Given the description of an element on the screen output the (x, y) to click on. 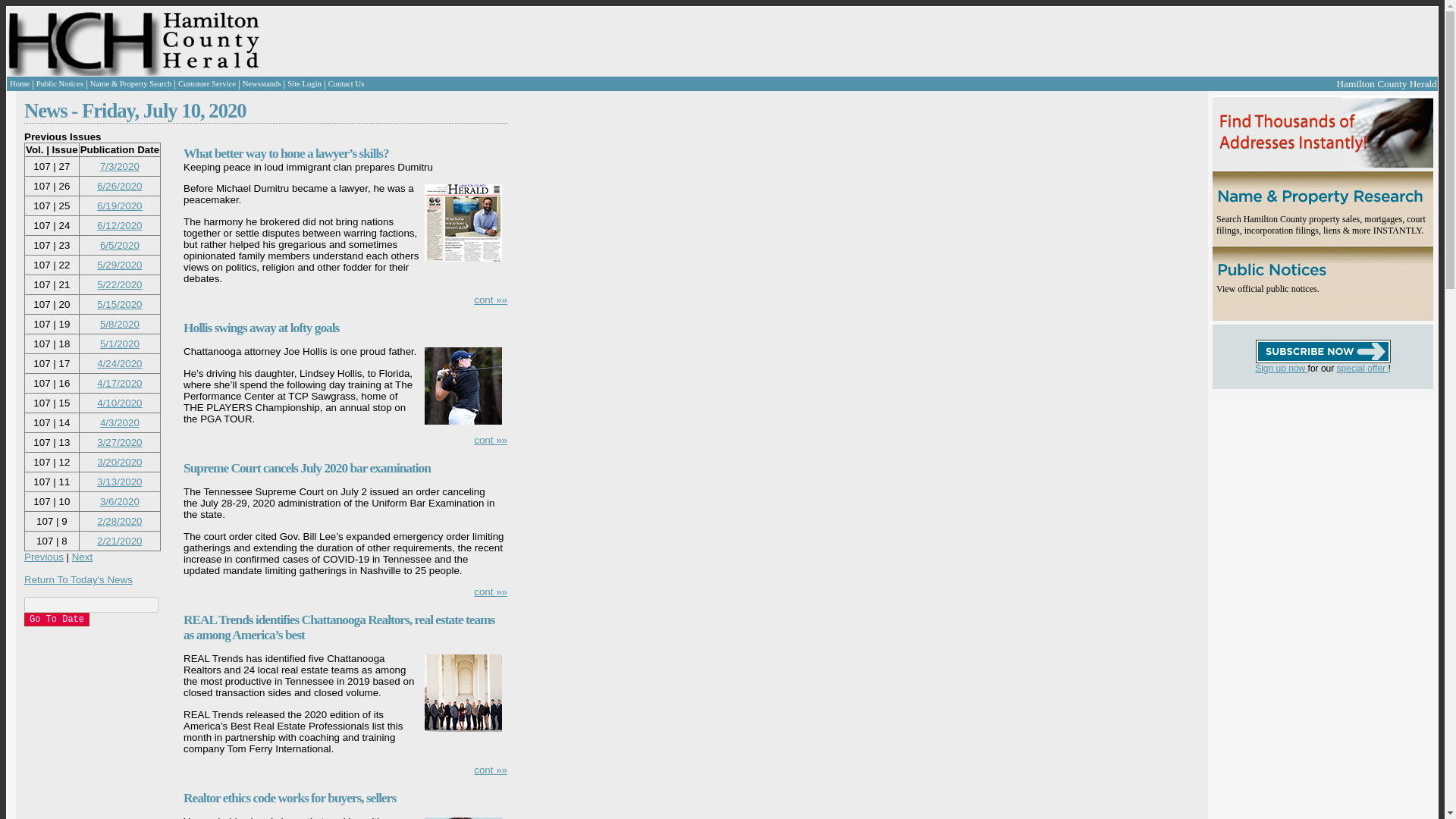
Go To Date (56, 619)
Home (19, 83)
Customer Service (206, 83)
Public Notices (59, 83)
Return To Today's News (78, 579)
Contact Us (347, 83)
Next (82, 556)
Newsstands (262, 83)
3rd party ad content (1302, 483)
Previous (44, 556)
3rd party ad content (579, 41)
Site Login (303, 83)
Hollis swings away at lofty goals (261, 327)
Go To Date (56, 619)
